Given the description of an element on the screen output the (x, y) to click on. 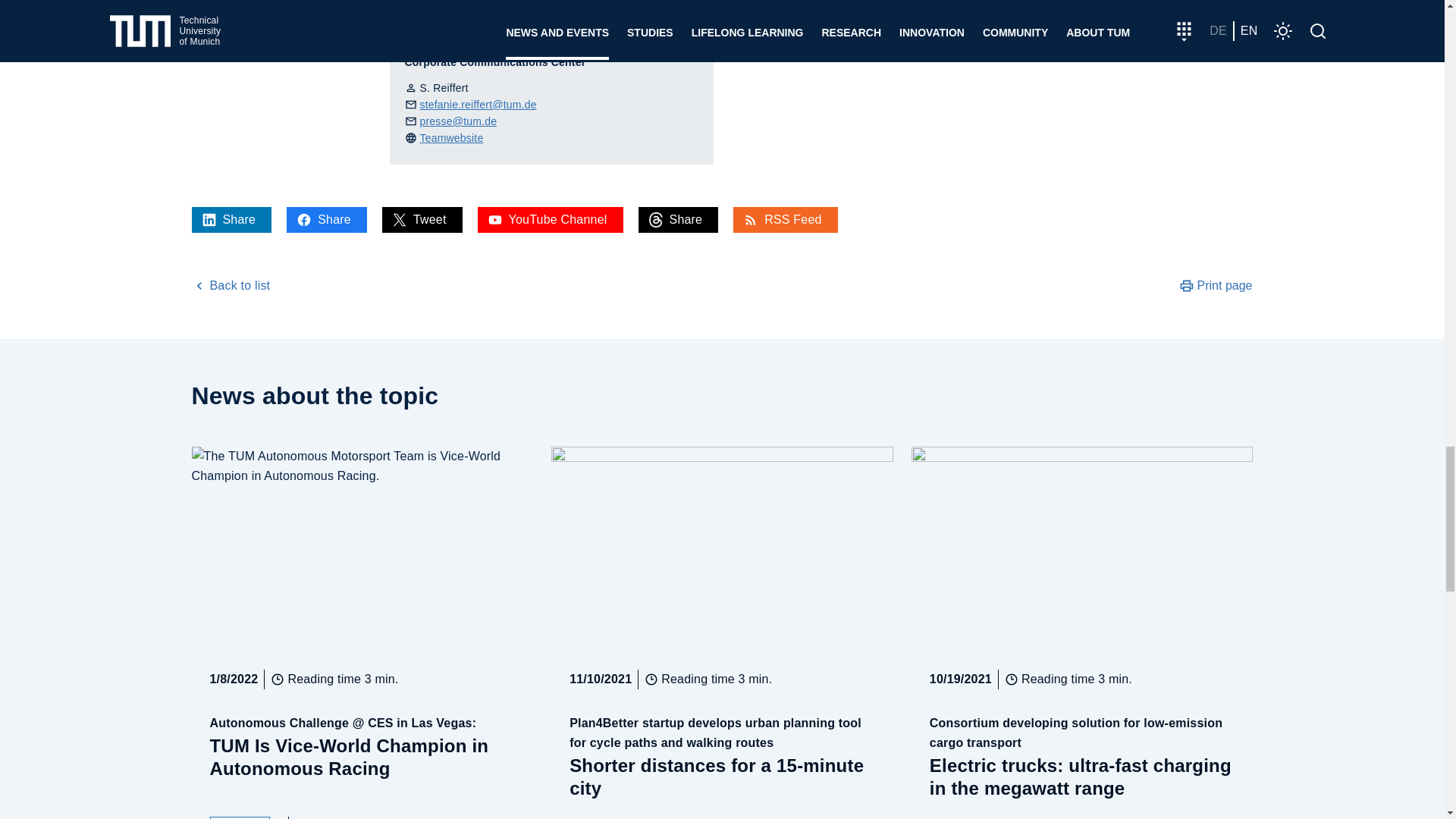
 TUM Is Vice-World Champion in Autonomous Racing  (239, 817)
